Given the description of an element on the screen output the (x, y) to click on. 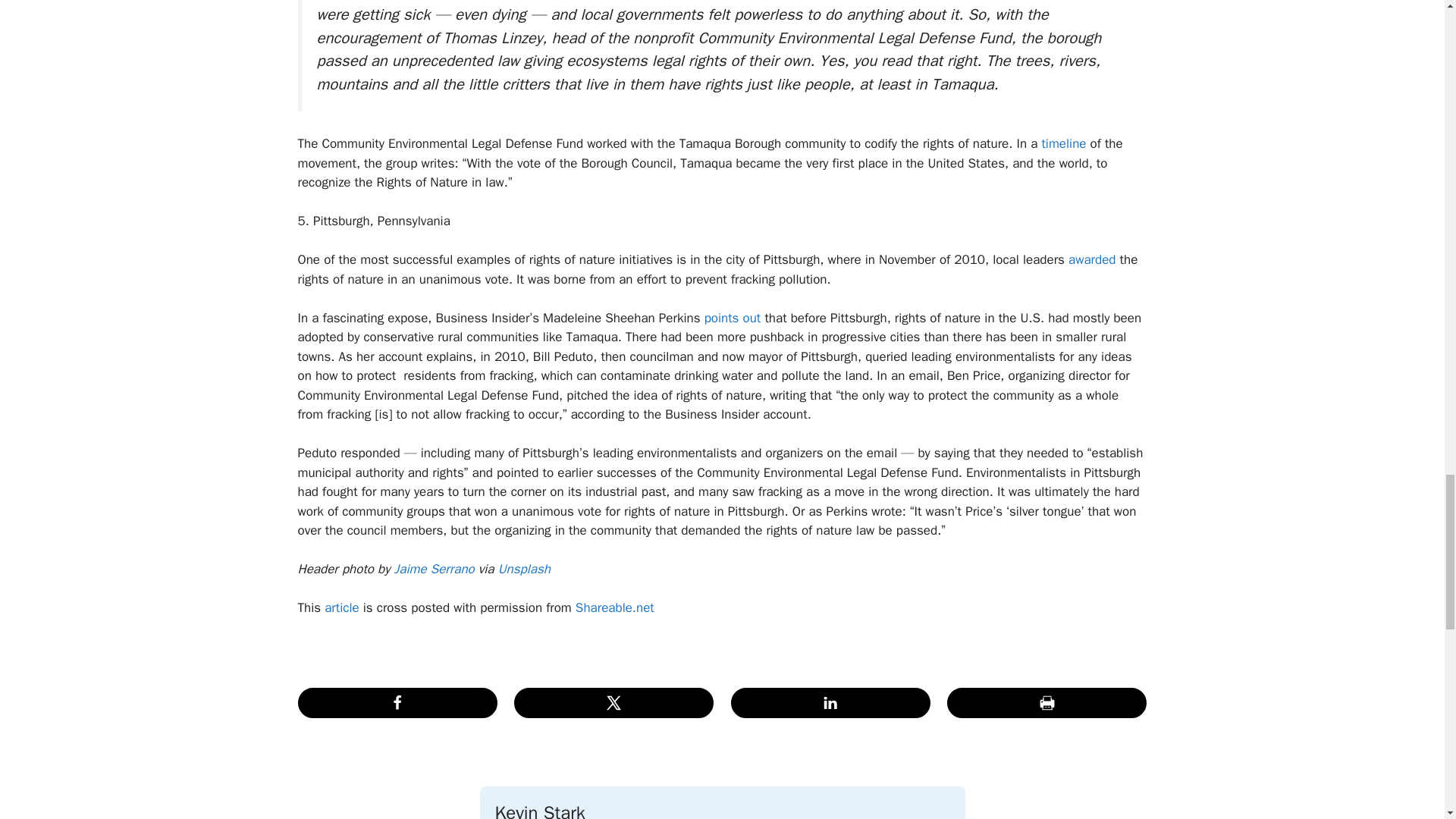
Print this webpage (1047, 702)
Share on Facebook (396, 702)
Share on X (613, 702)
Share on LinkedIn (830, 702)
